Given the description of an element on the screen output the (x, y) to click on. 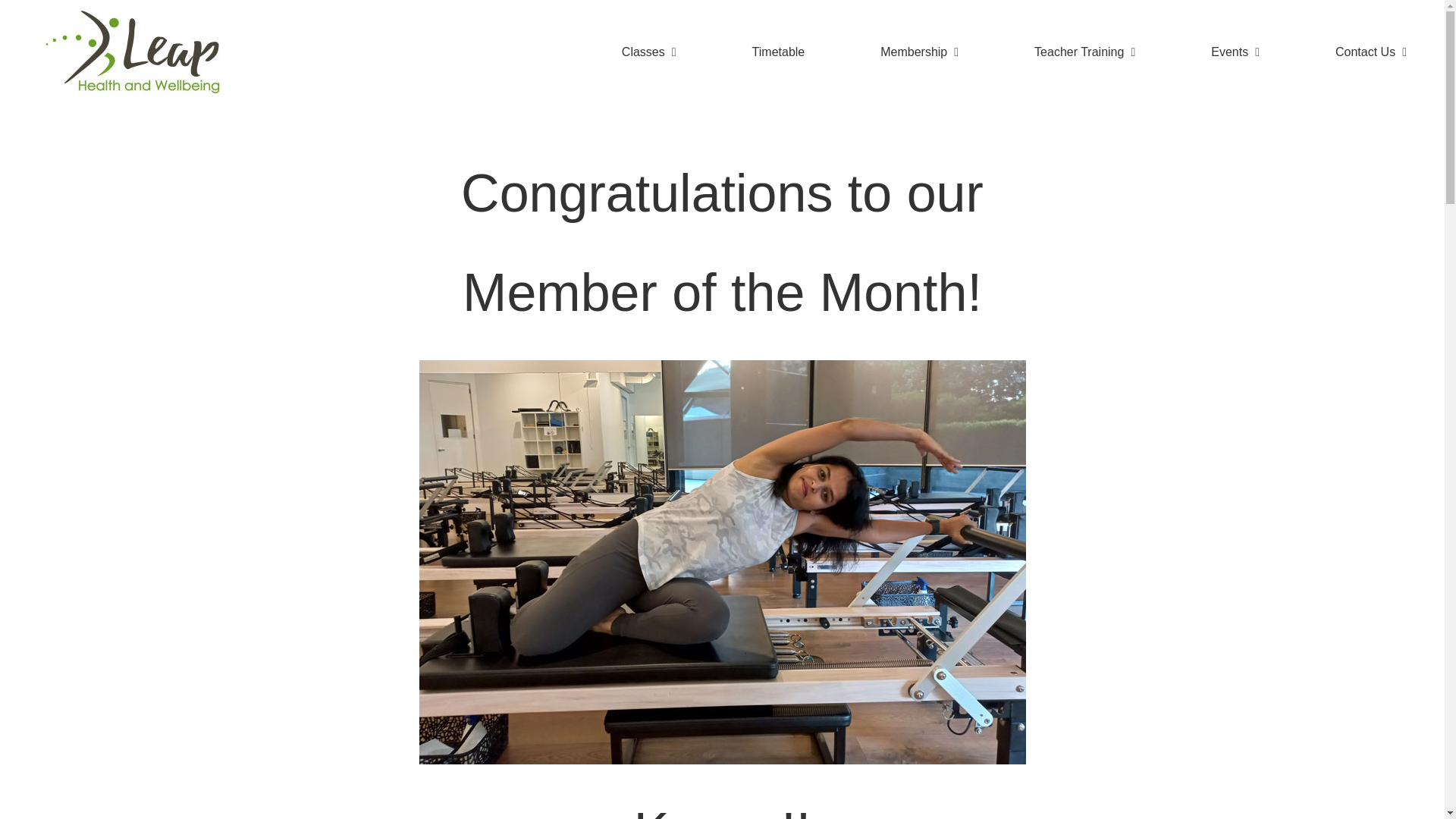
Teacher Training (1084, 51)
